Given the description of an element on the screen output the (x, y) to click on. 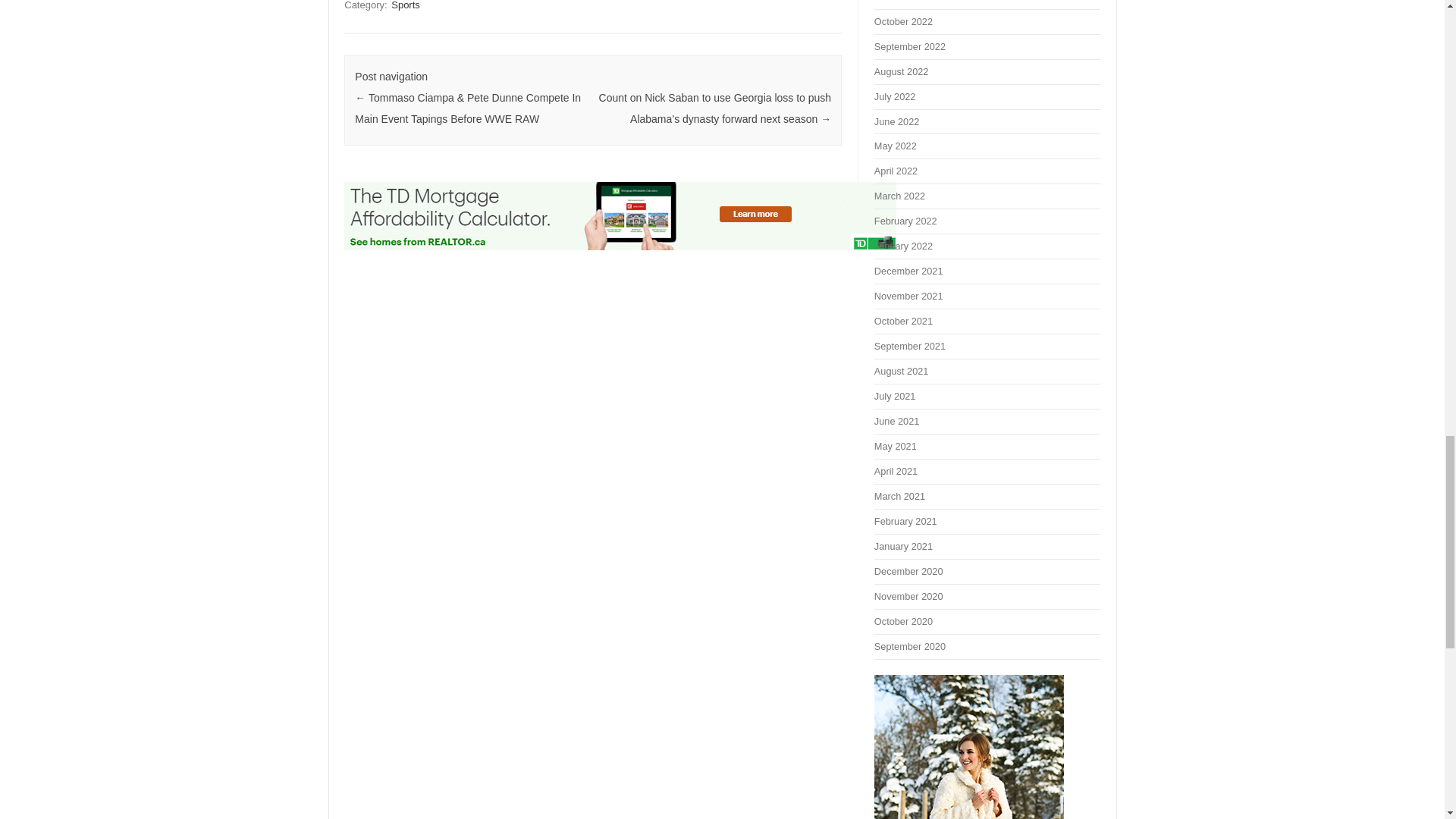
Sports (406, 6)
